Given the description of an element on the screen output the (x, y) to click on. 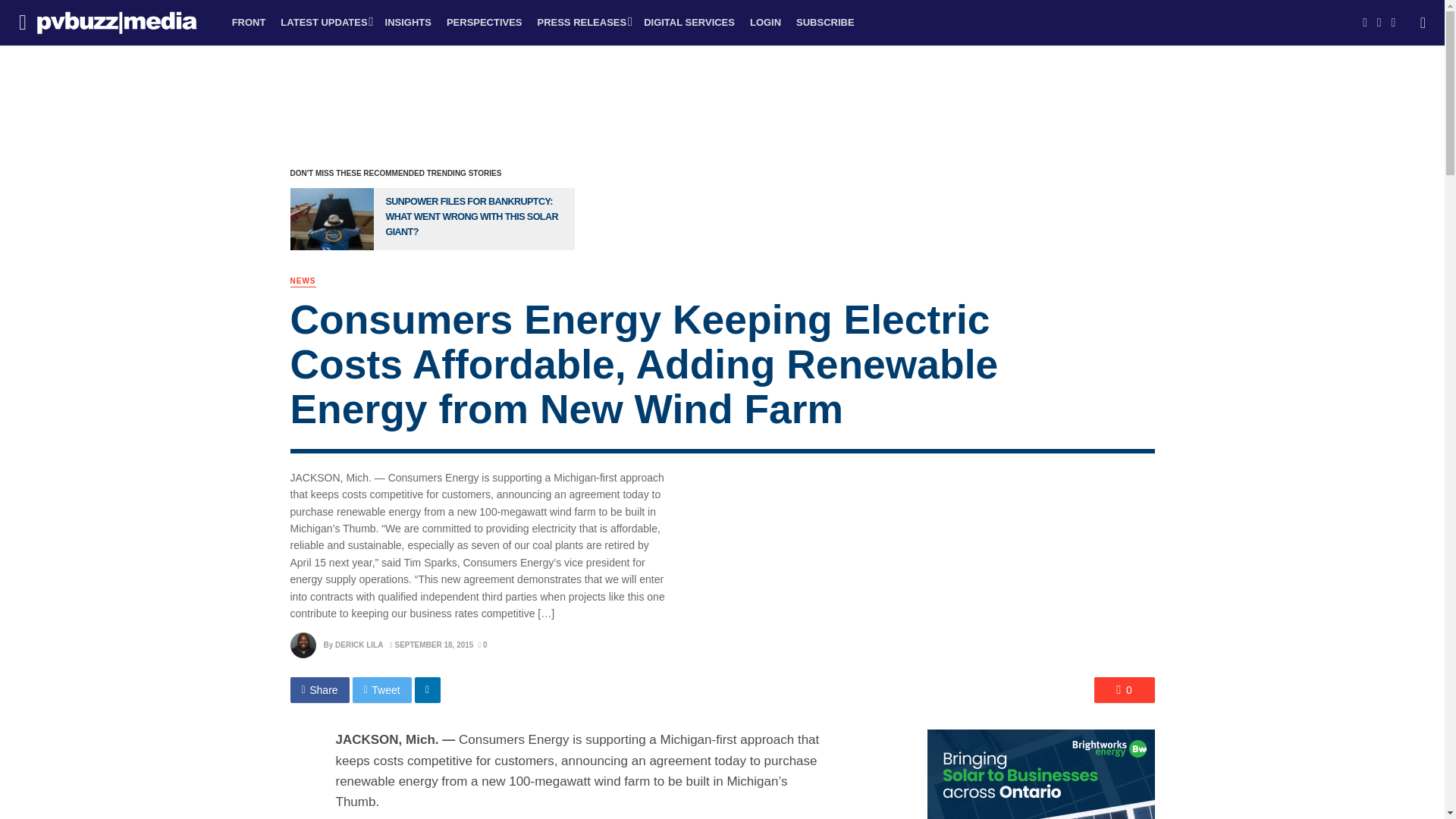
Share on Facebook (319, 689)
INSIGHTS (408, 22)
September 18, 2015 at 1:17 pm (432, 644)
NEWS (302, 281)
SUBSCRIBE (825, 22)
Posts by Derick Lila (358, 644)
LOGIN (765, 22)
0 Comments (1123, 689)
0 (481, 644)
FRONT (248, 22)
